Given the description of an element on the screen output the (x, y) to click on. 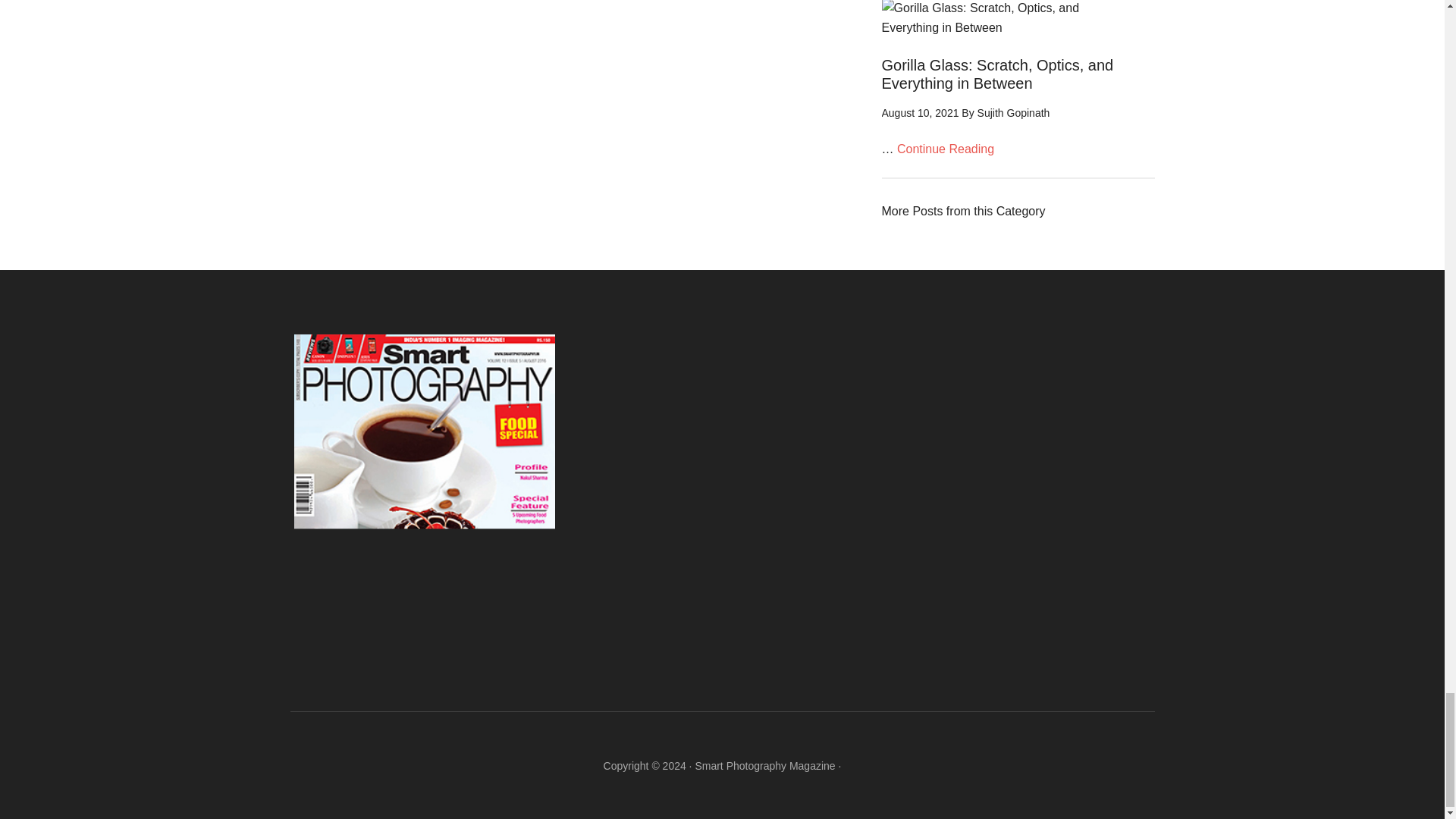
Specials (962, 210)
